Given the description of an element on the screen output the (x, y) to click on. 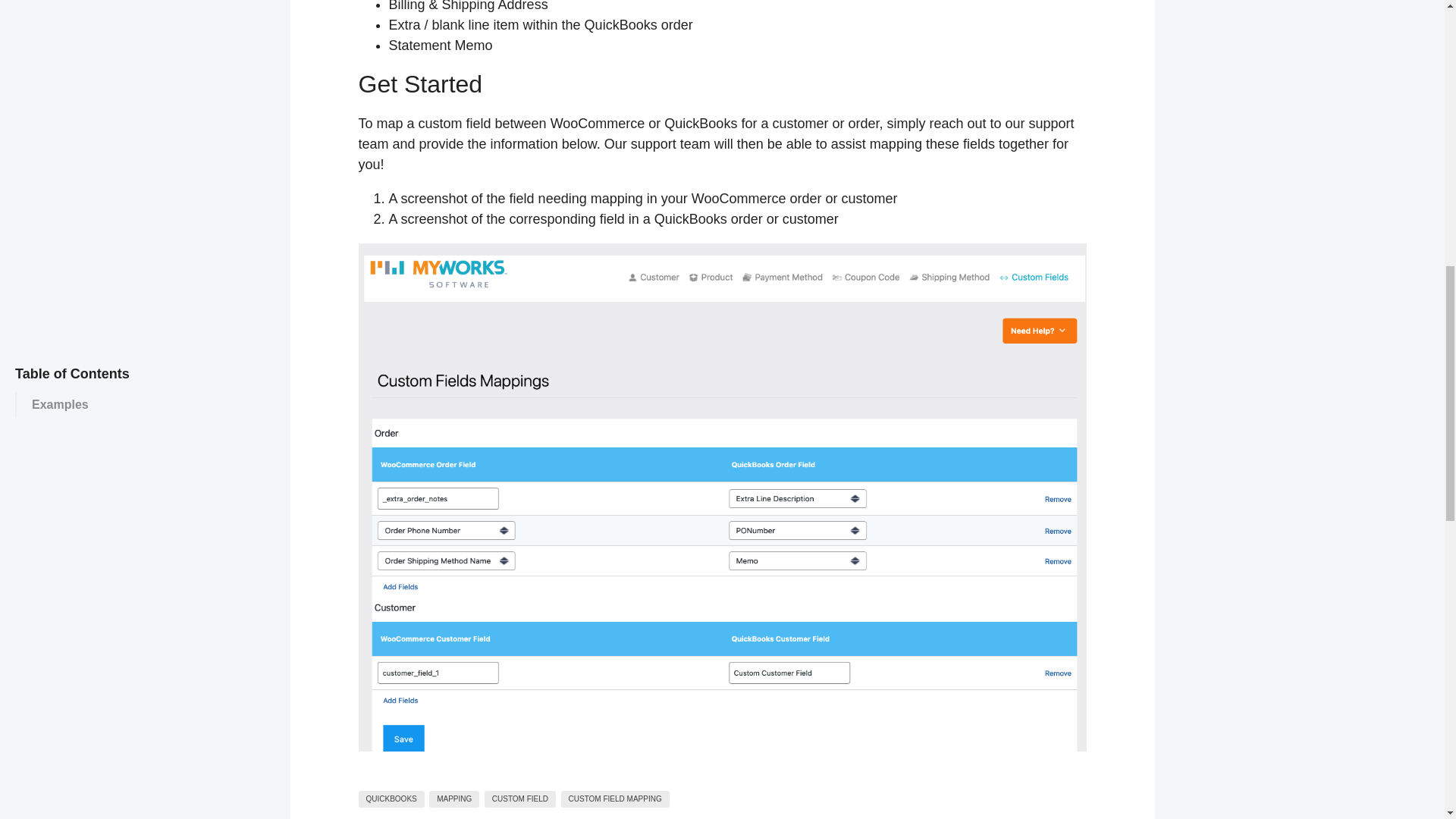
CUSTOM FIELD MAPPING (614, 799)
MAPPING (454, 799)
CUSTOM FIELD (520, 799)
QUICKBOOKS (390, 799)
